Given the description of an element on the screen output the (x, y) to click on. 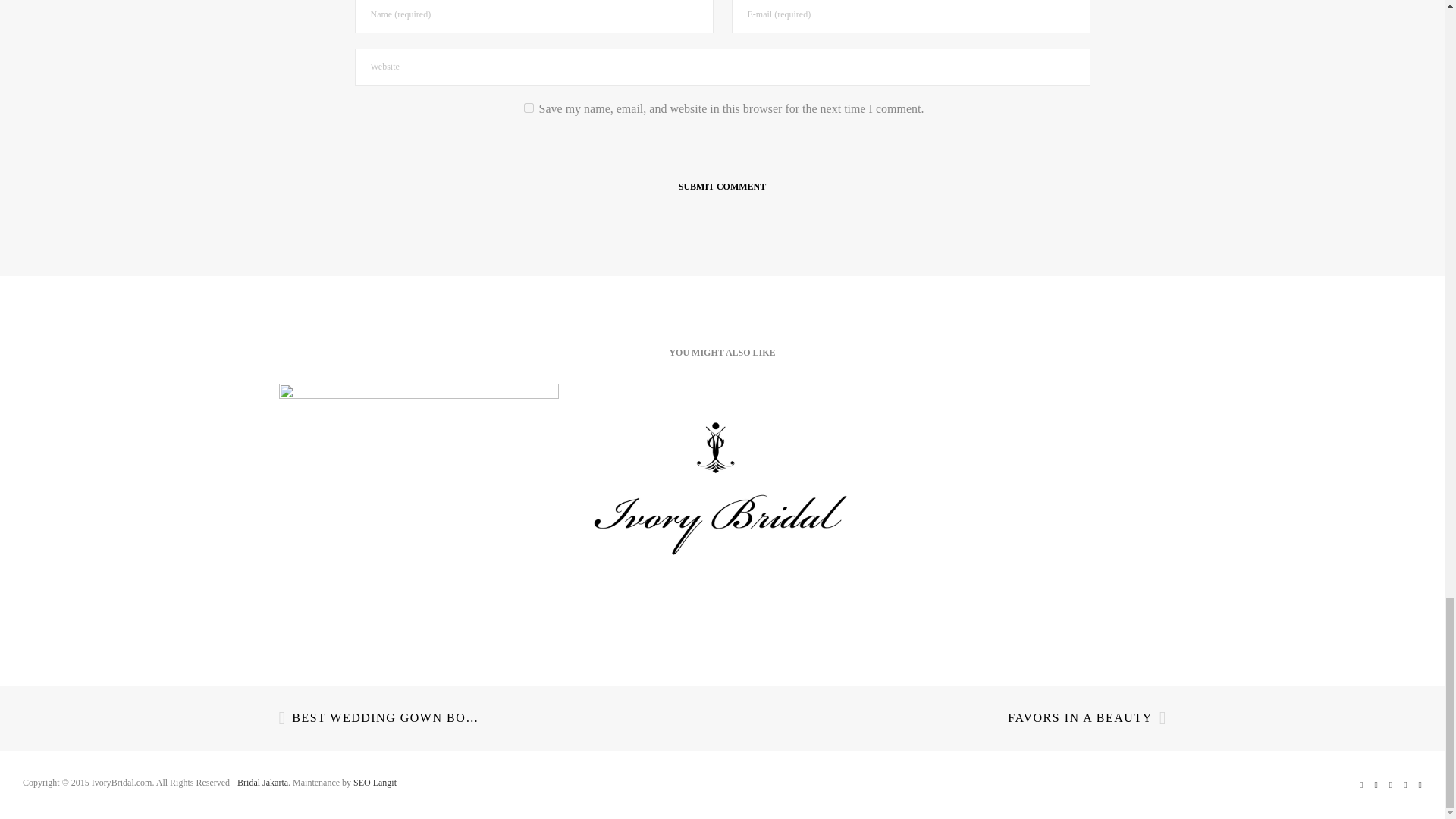
yes (529, 108)
Submit Comment (722, 186)
